Given the description of an element on the screen output the (x, y) to click on. 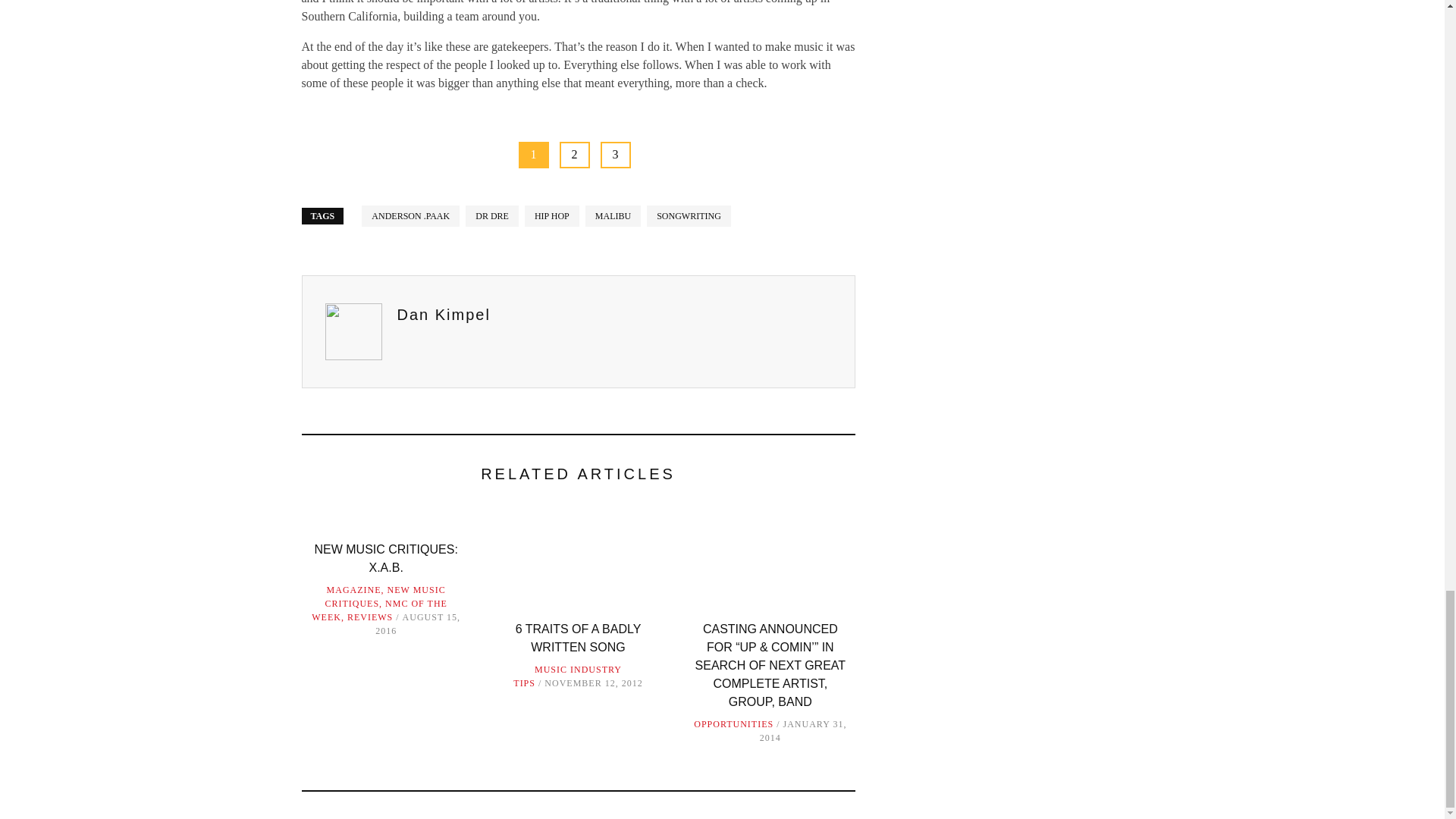
View all posts tagged hip hop (551, 215)
View all posts tagged songwriting (688, 215)
View all posts tagged Malibu (612, 215)
View all posts tagged dr dre (491, 215)
View all posts tagged Anderson .Paak (410, 215)
